Given the description of an element on the screen output the (x, y) to click on. 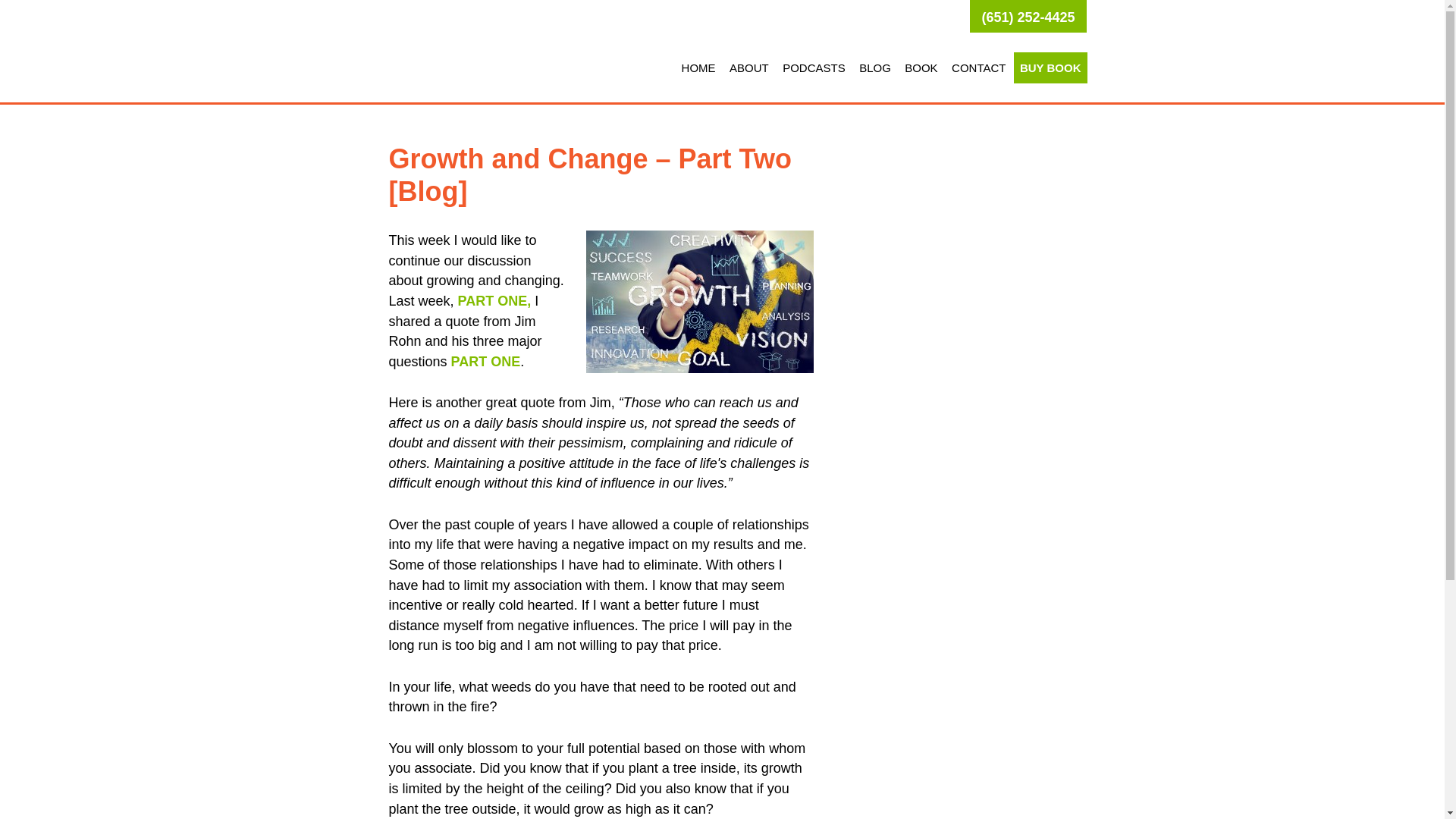
The Prospecting Expert (478, 50)
HOME (698, 67)
ABOUT (748, 67)
BOOK (920, 67)
PART ONE, (494, 300)
PART ONE (486, 361)
CONTACT (977, 67)
BLOG (874, 67)
BUY BOOK (1050, 67)
PODCASTS (813, 67)
